Given the description of an element on the screen output the (x, y) to click on. 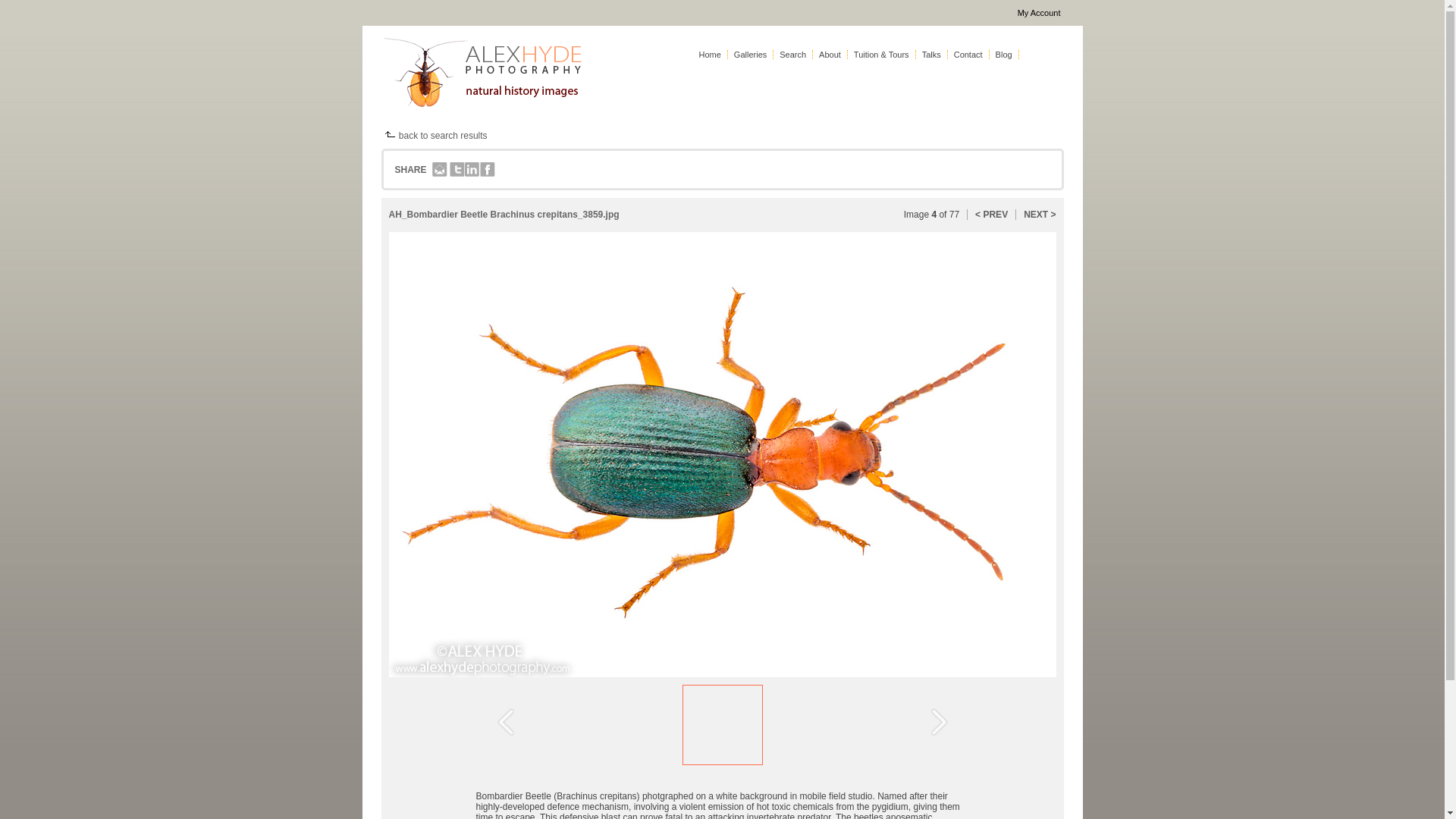
Talks (930, 54)
Email to a Friend (439, 170)
Search (792, 54)
Contact (967, 54)
back to search results (433, 135)
Contact (967, 54)
About (829, 54)
Home (709, 54)
Blog (1003, 54)
Galleries (750, 54)
Search (792, 54)
Galleries (750, 54)
My Account (1039, 12)
My Account (1039, 12)
About (829, 54)
